Given the description of an element on the screen output the (x, y) to click on. 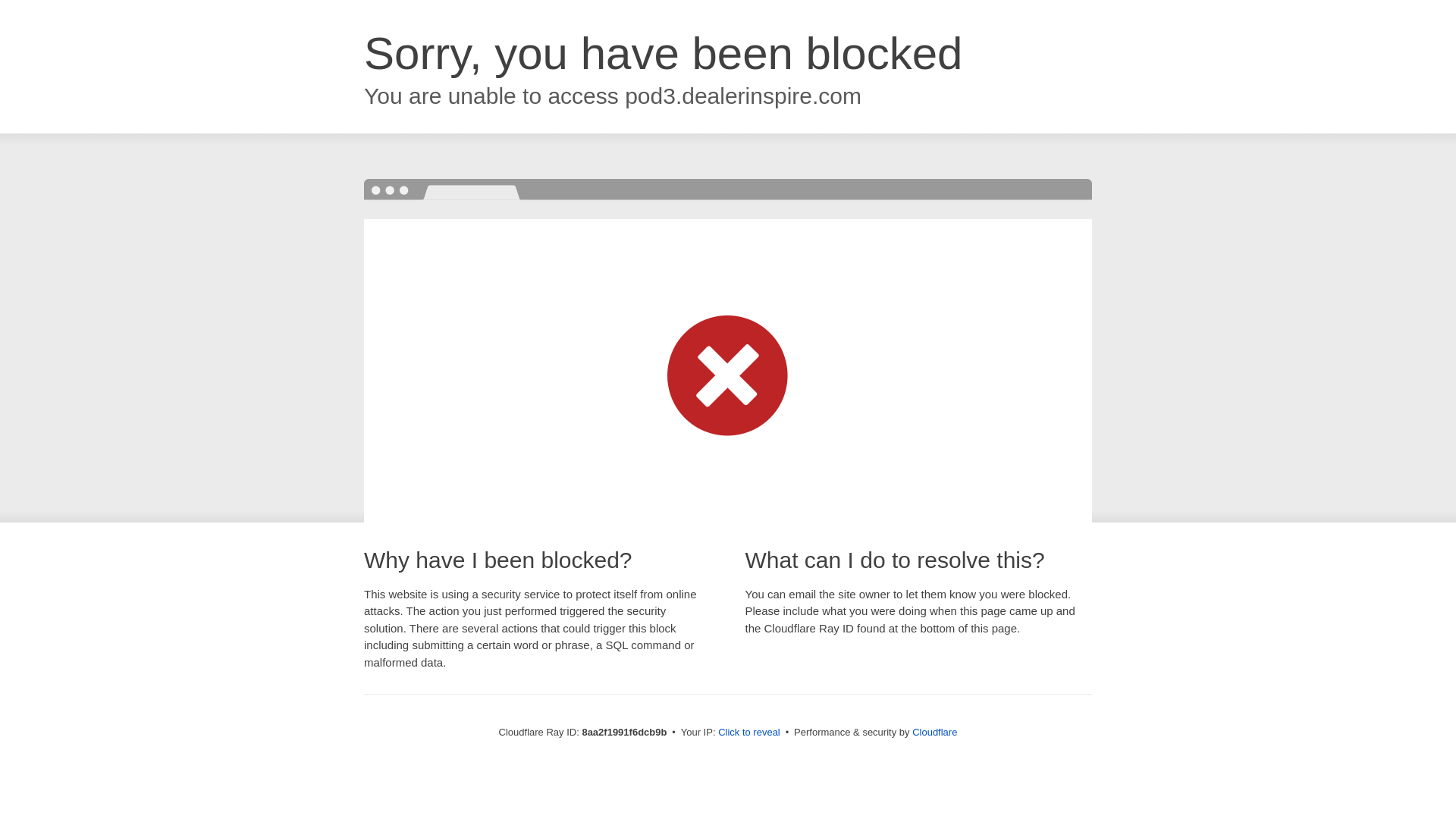
Click to reveal (748, 732)
Cloudflare (934, 731)
